Given the description of an element on the screen output the (x, y) to click on. 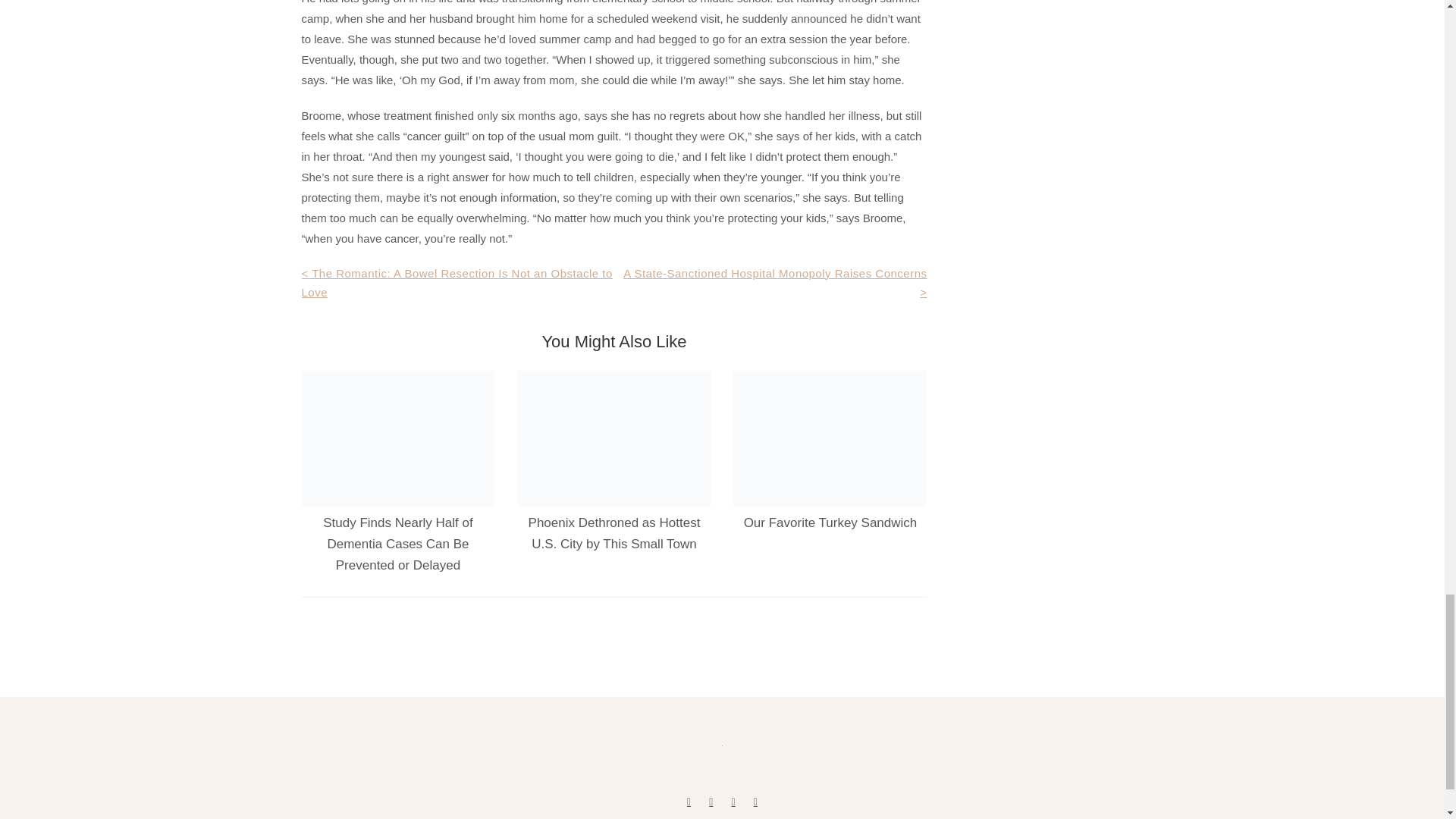
Pinterest (733, 801)
Twitter (711, 801)
Our Favorite Turkey Sandwich (830, 522)
Facebook (688, 801)
Phoenix Dethroned as Hottest U.S. City by This Small Town (614, 533)
Instagram (755, 801)
